Given the description of an element on the screen output the (x, y) to click on. 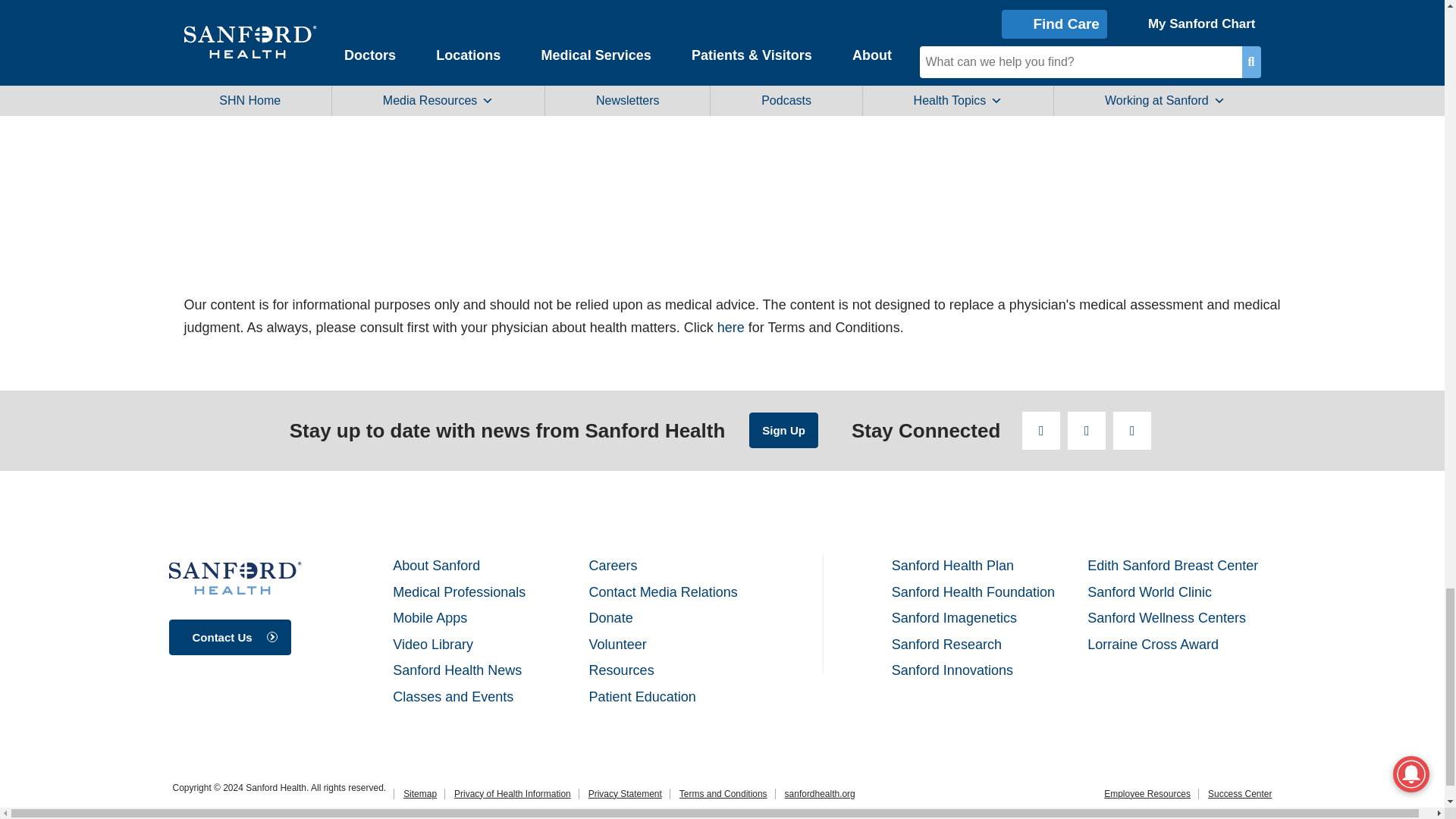
Sign up for emails from Sanford Health (783, 429)
Click to follow us on Twitter (1086, 430)
